Given the description of an element on the screen output the (x, y) to click on. 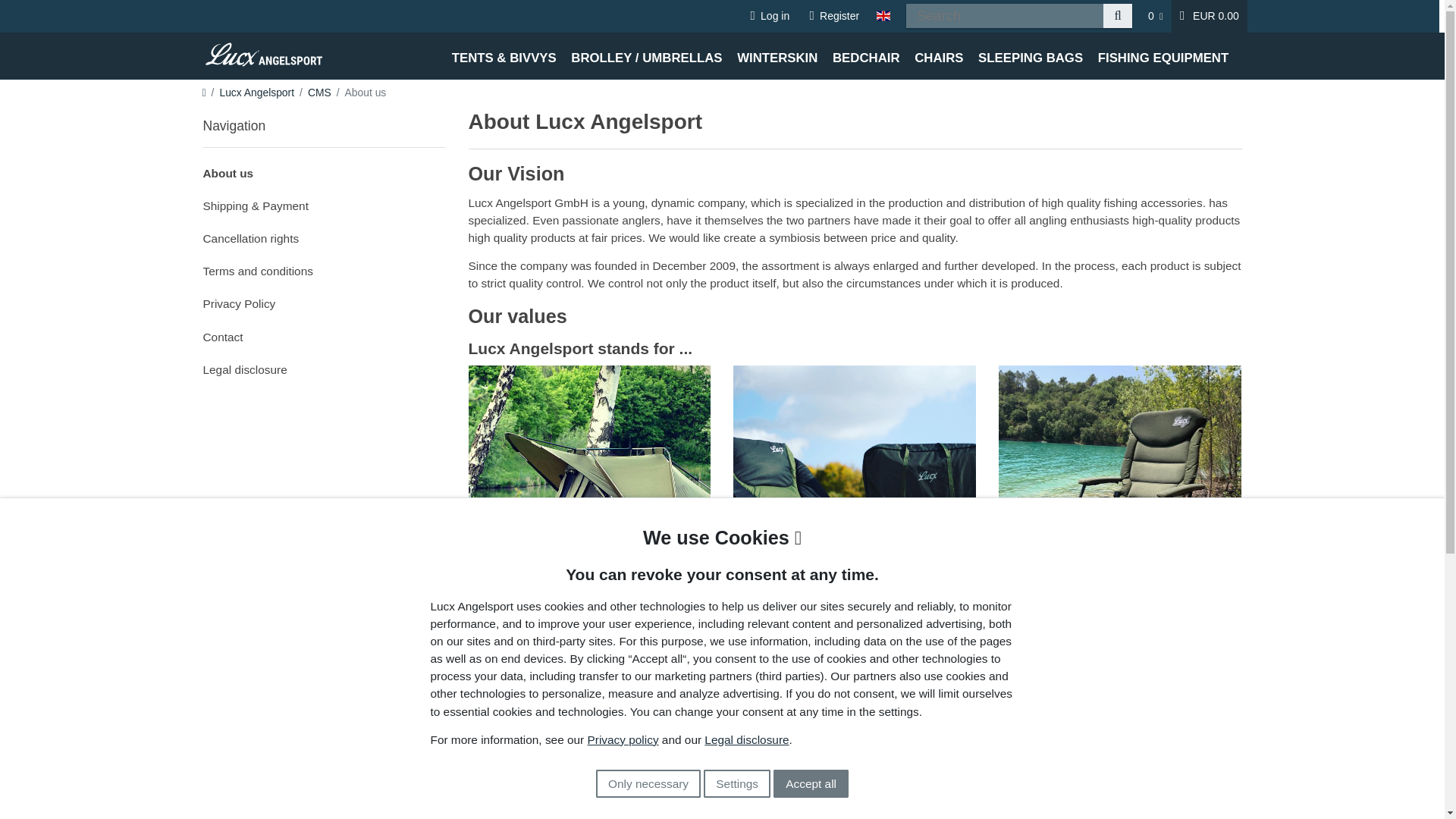
About us (324, 171)
Legal disclosure (324, 368)
CMS (319, 92)
CHAIRS (939, 55)
EUR 0.00 (1209, 16)
Cancellation rights (324, 236)
Terms and conditions (324, 269)
Lucx Angelsport (256, 92)
Register (833, 16)
Log in (769, 16)
Contact (324, 335)
BEDCHAIR (866, 55)
FISHING EQUIPMENT (1163, 55)
Privacy Policy (324, 301)
SLEEPING BAGS (1030, 55)
